Given the description of an element on the screen output the (x, y) to click on. 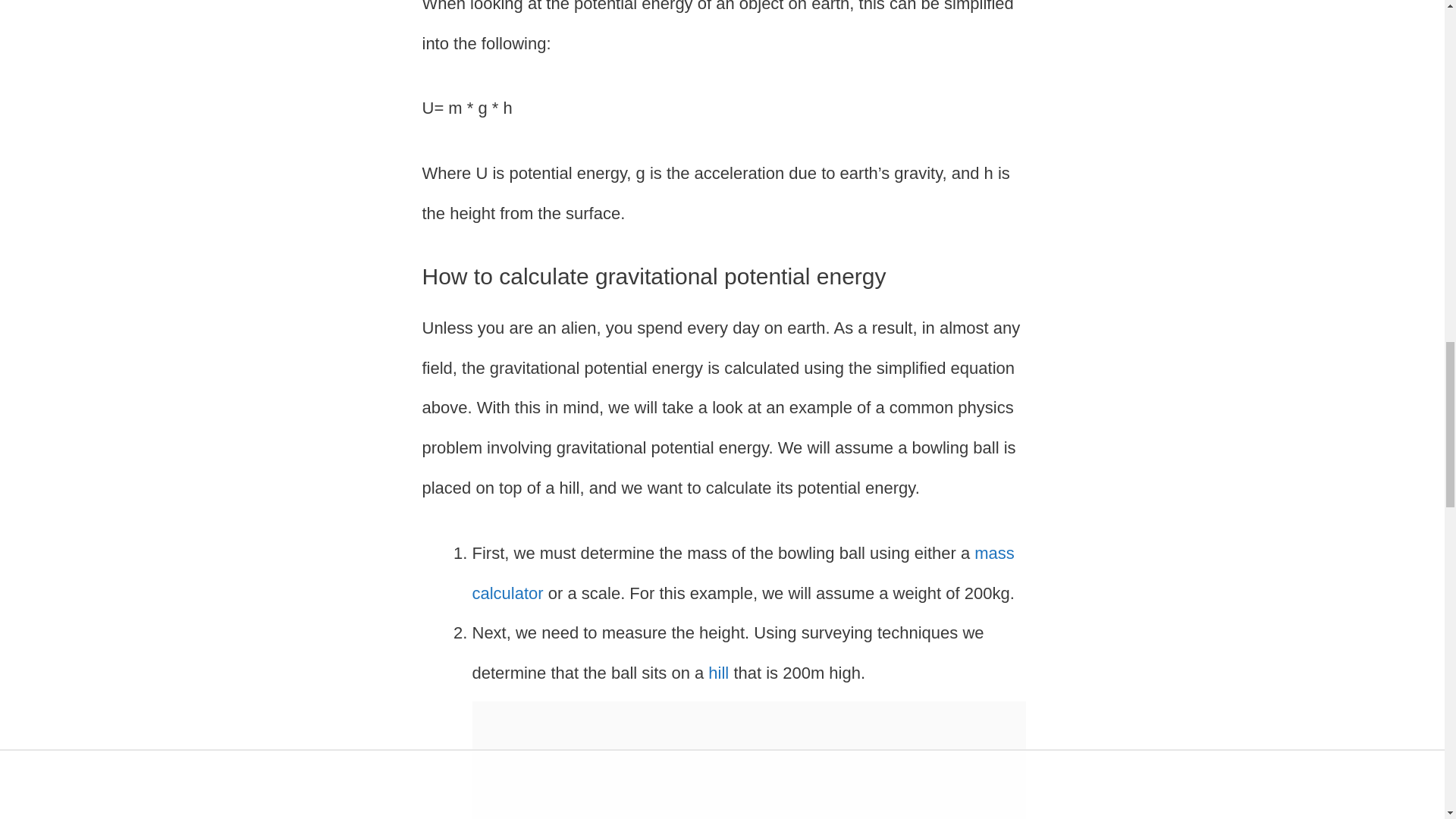
hill (718, 672)
mass calculator (742, 572)
